Given the description of an element on the screen output the (x, y) to click on. 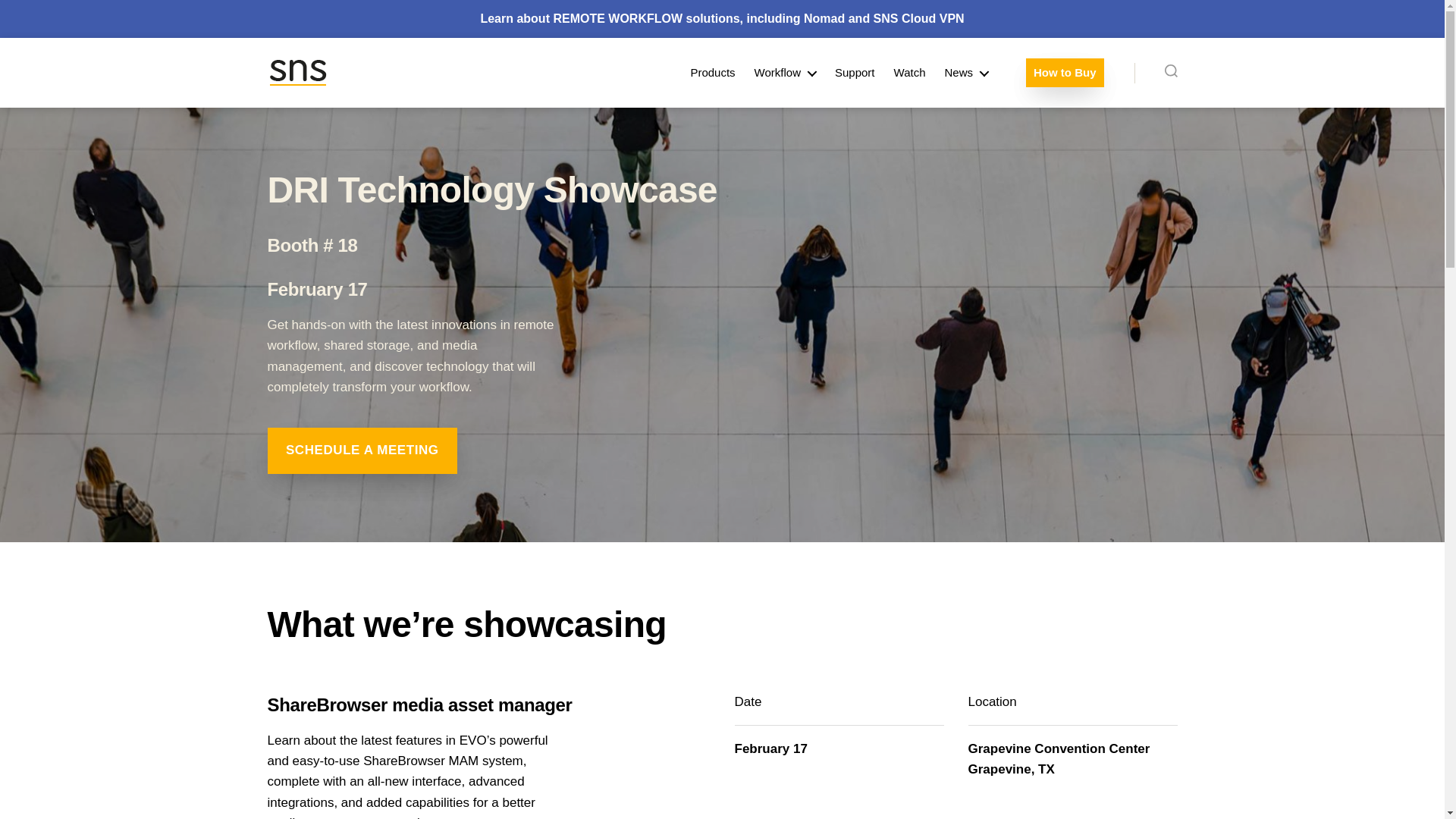
Products (712, 72)
Watch (909, 72)
News (965, 72)
Support (854, 72)
How to Buy (1064, 72)
Search (1171, 72)
Workflow (784, 72)
